Given the description of an element on the screen output the (x, y) to click on. 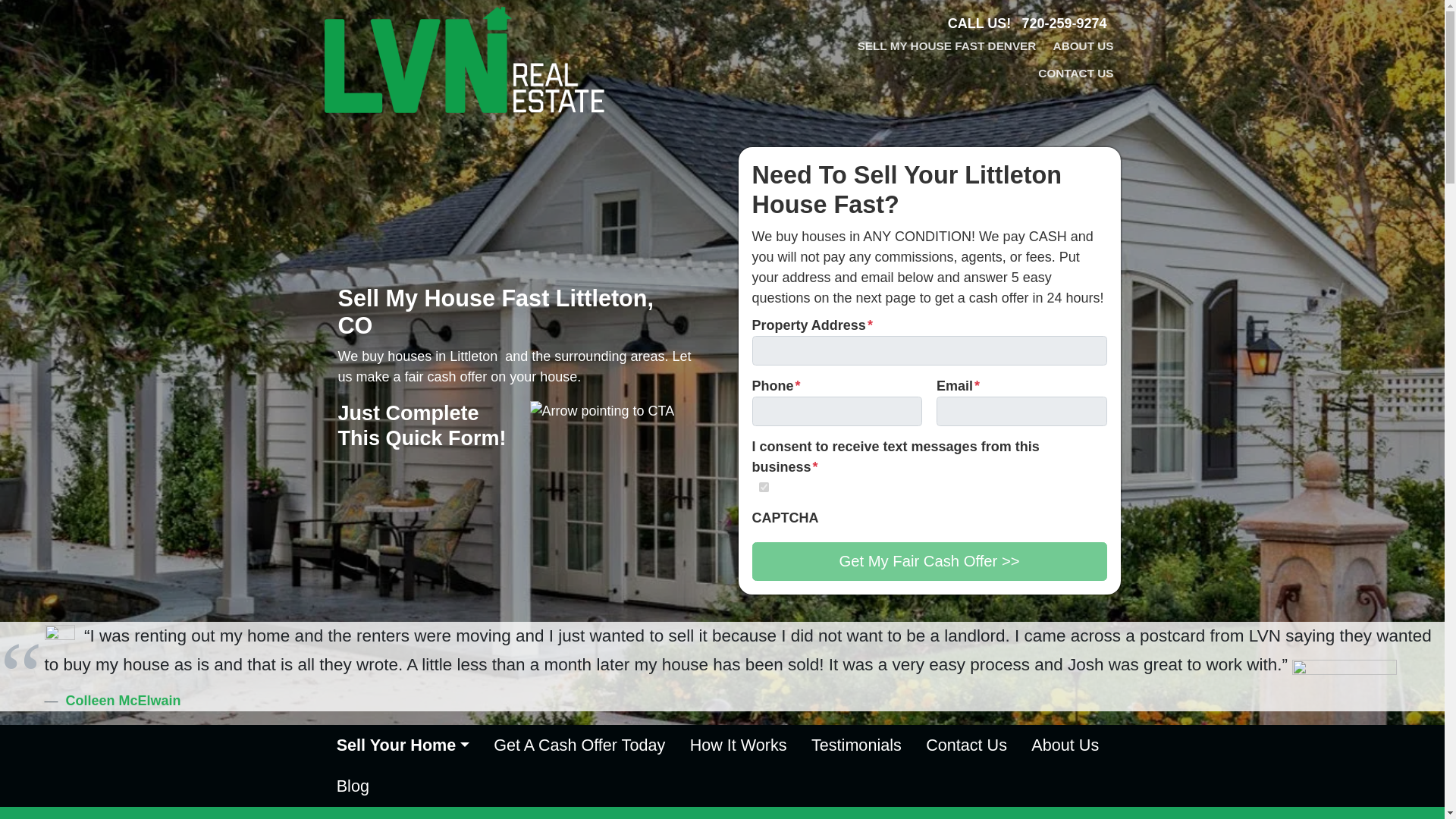
720-259-9274 (1063, 23)
How It Works (737, 744)
About Us (1064, 744)
How It Works (737, 744)
About Us (1064, 744)
Contact Us (966, 744)
Sell Your Home (402, 744)
Blog (352, 785)
Testimonials (856, 744)
CONTACT US (1074, 74)
